Given the description of an element on the screen output the (x, y) to click on. 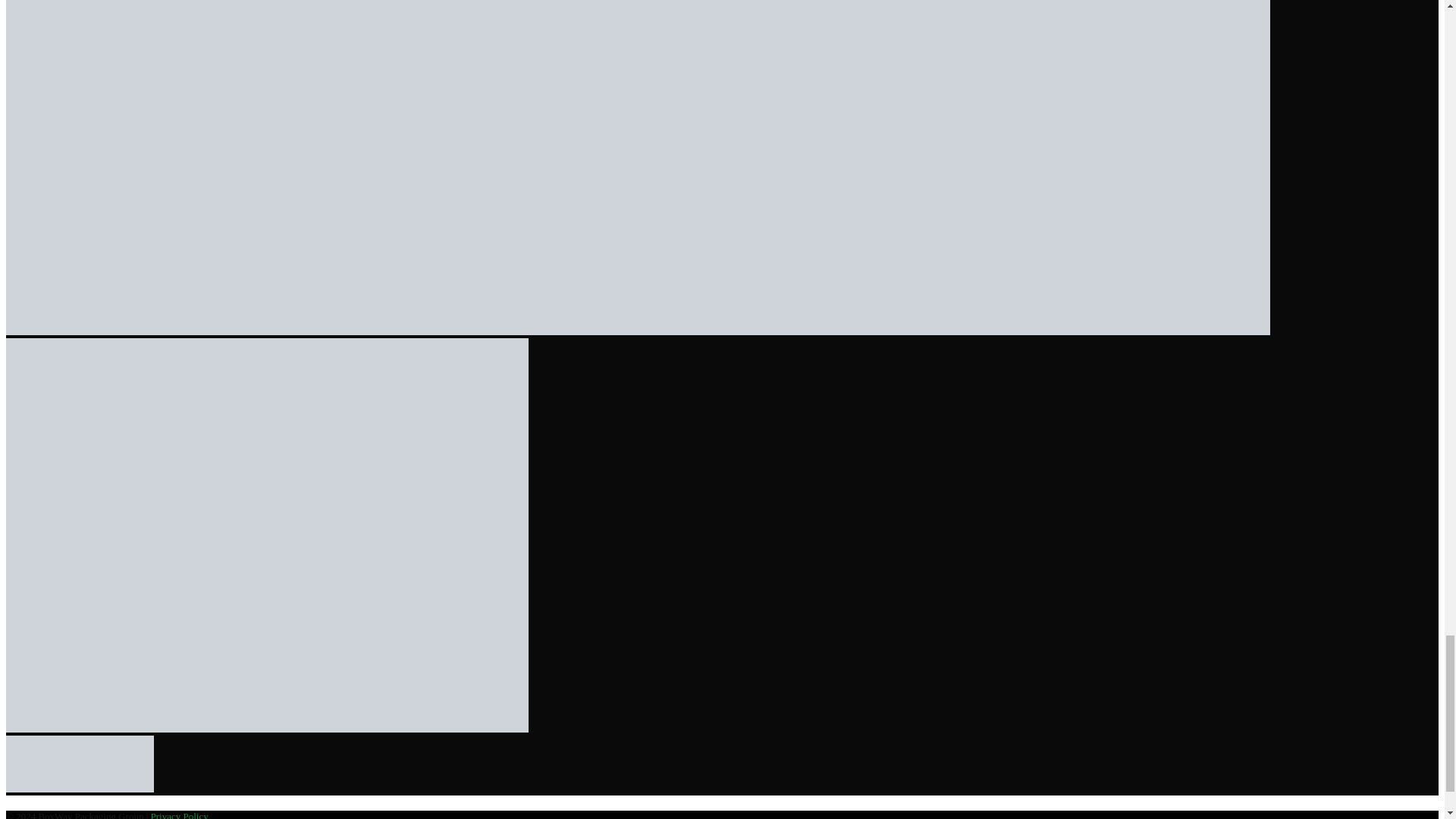
BoxWay Packaging Group (79, 763)
